Given the description of an element on the screen output the (x, y) to click on. 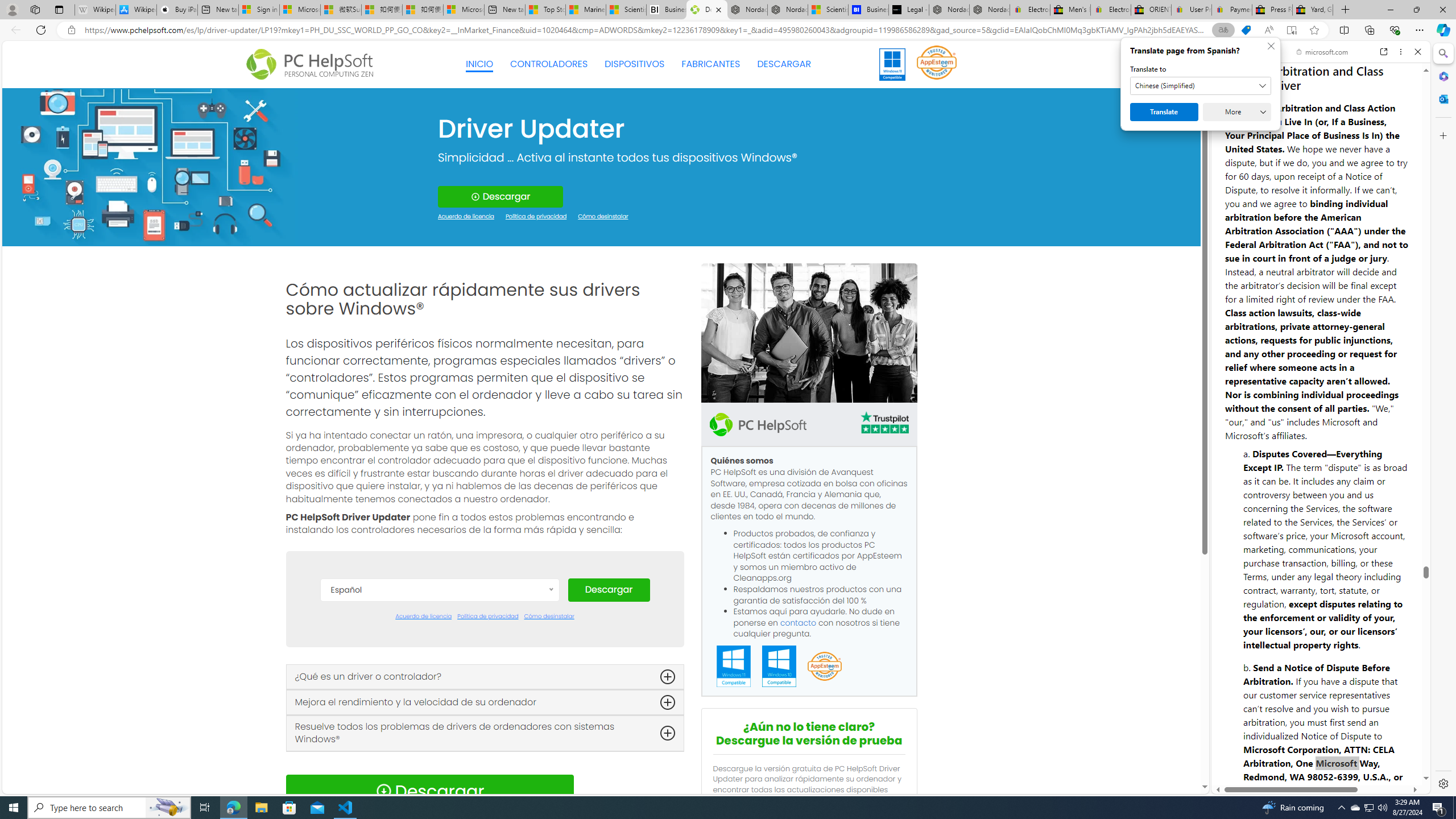
More (1236, 112)
Logo Personal Computing (313, 64)
TrustPilot (884, 422)
Minimize Search pane (1442, 53)
